Given the description of an element on the screen output the (x, y) to click on. 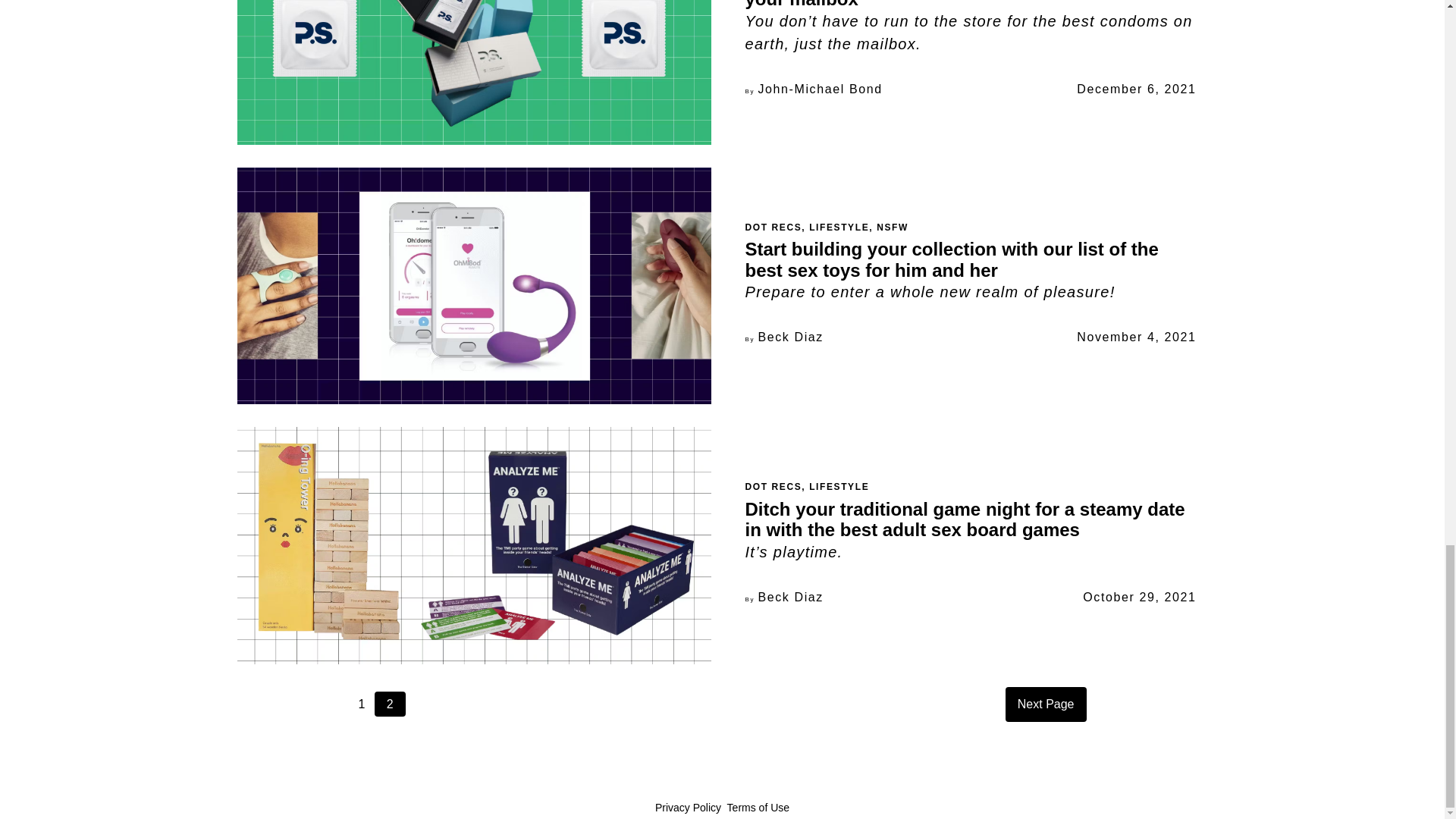
DOT RECS (773, 226)
NSFW (892, 226)
LIFESTYLE (839, 226)
DOT RECS (773, 486)
